Given the description of an element on the screen output the (x, y) to click on. 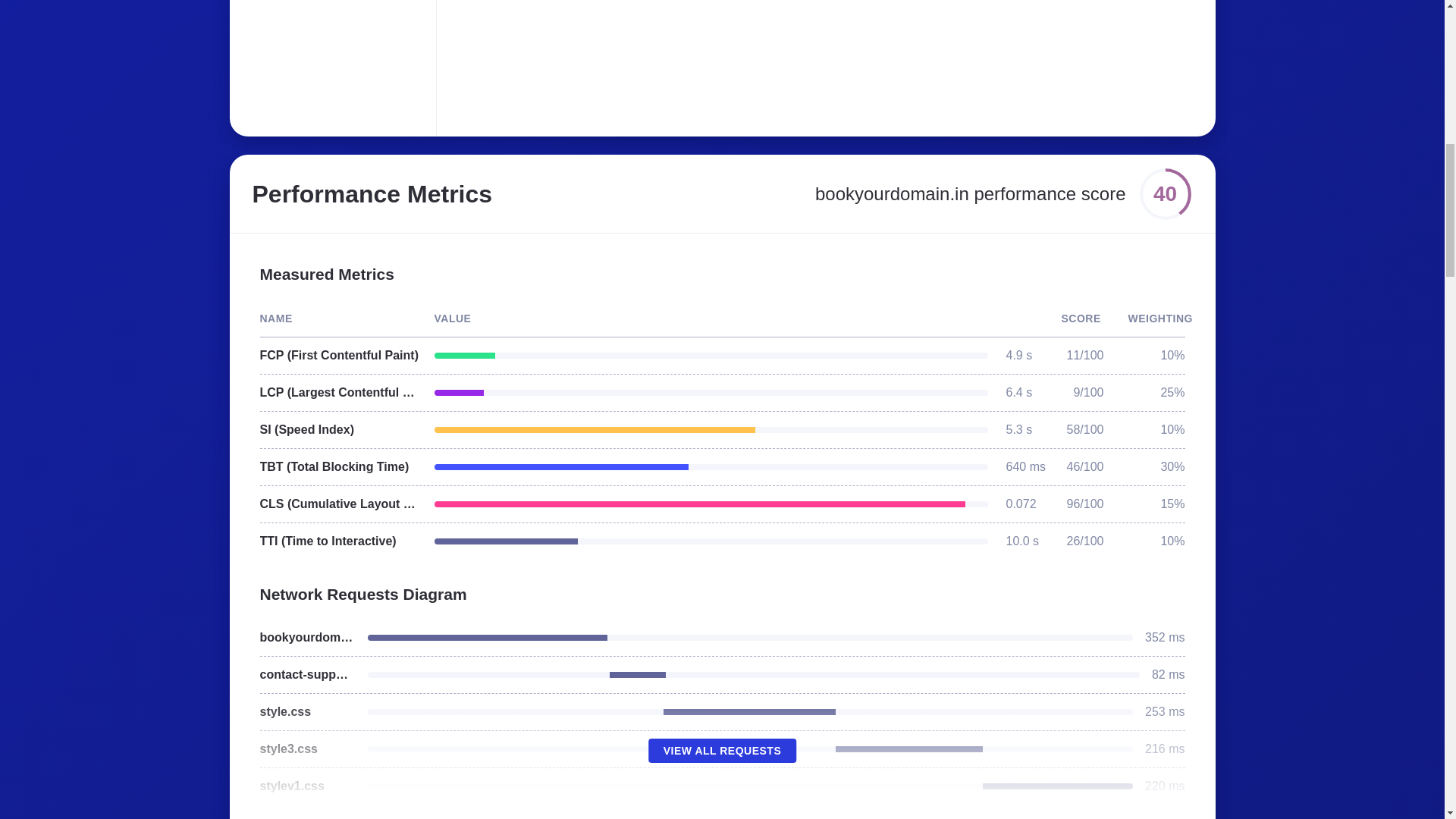
Advertisement (686, 58)
VIEW ALL REQUESTS (721, 750)
